Given the description of an element on the screen output the (x, y) to click on. 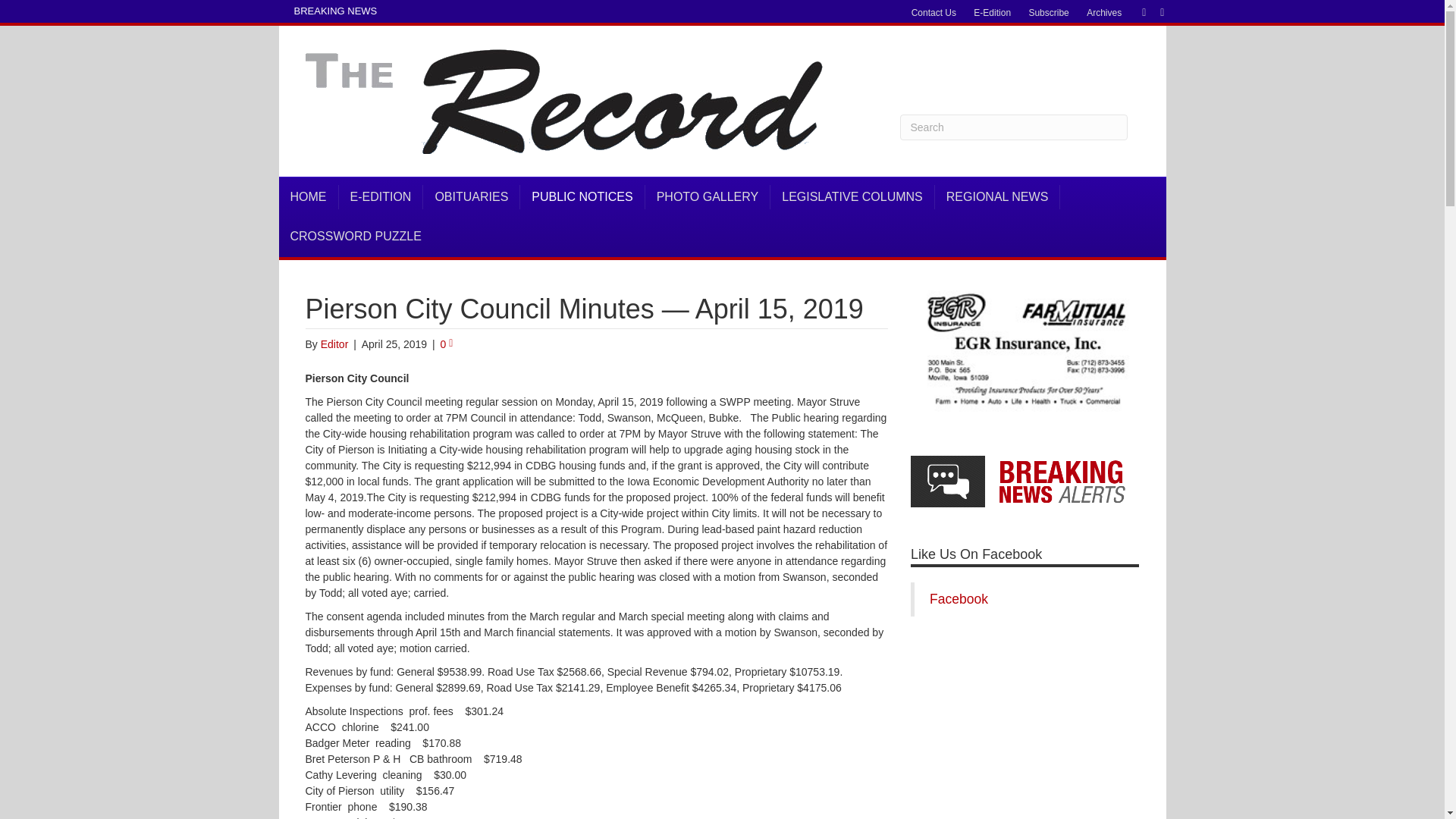
OBITUARIES (471, 197)
0 (446, 344)
PHOTO GALLERY (708, 197)
Subscribe (1047, 13)
REGIONAL NEWS (997, 197)
Email (1154, 11)
LEGISLATIVE COLUMNS (852, 197)
Contact Us (933, 13)
HOME (309, 197)
Facebook (1135, 11)
